Given the description of an element on the screen output the (x, y) to click on. 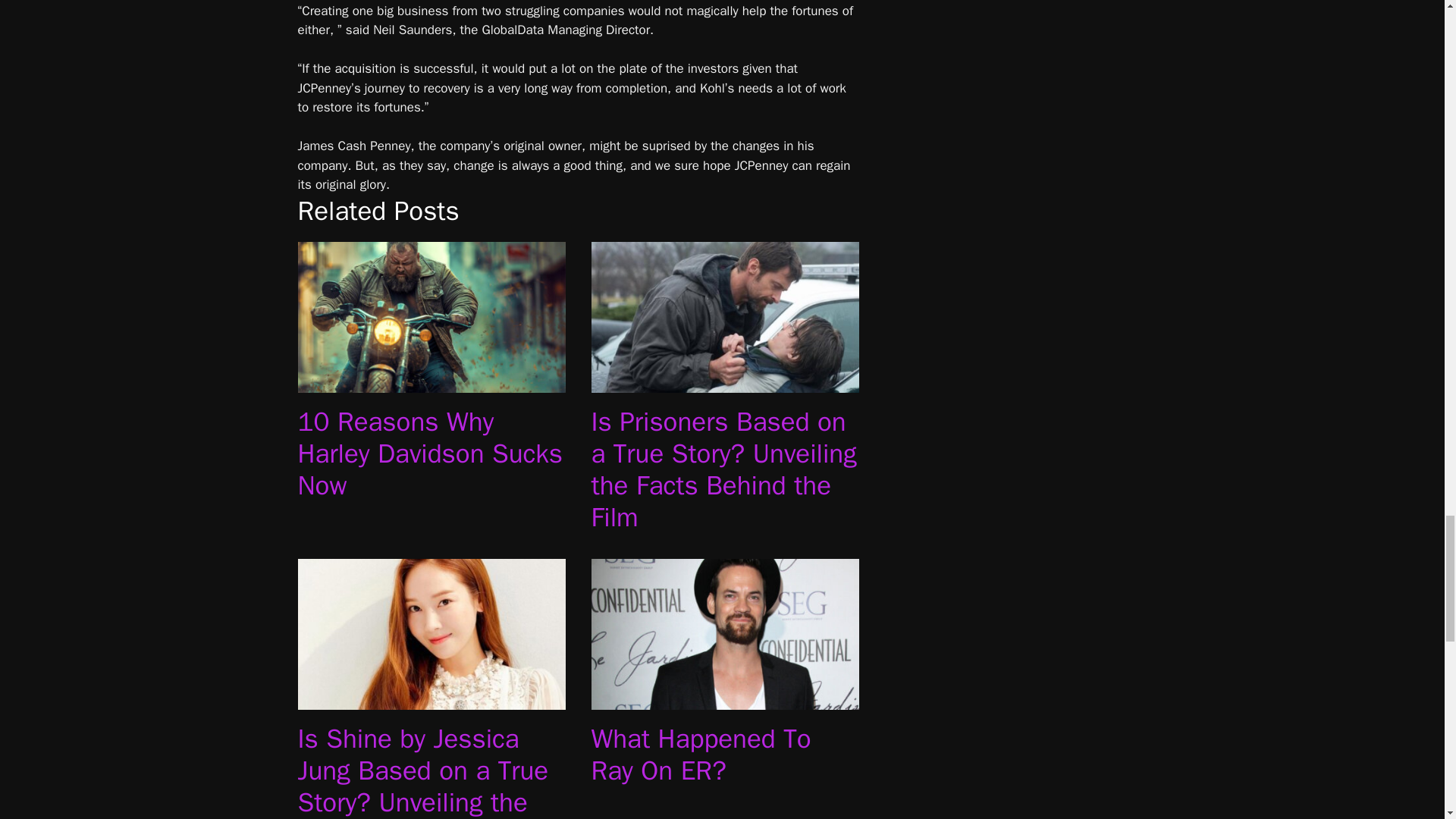
What Happened To Ray On ER? (700, 754)
10 Reasons Why Harley Davidson Sucks Now (430, 382)
What Happened To Ray On ER? (725, 699)
10 Reasons Why Harley Davidson Sucks Now (429, 453)
